Given the description of an element on the screen output the (x, y) to click on. 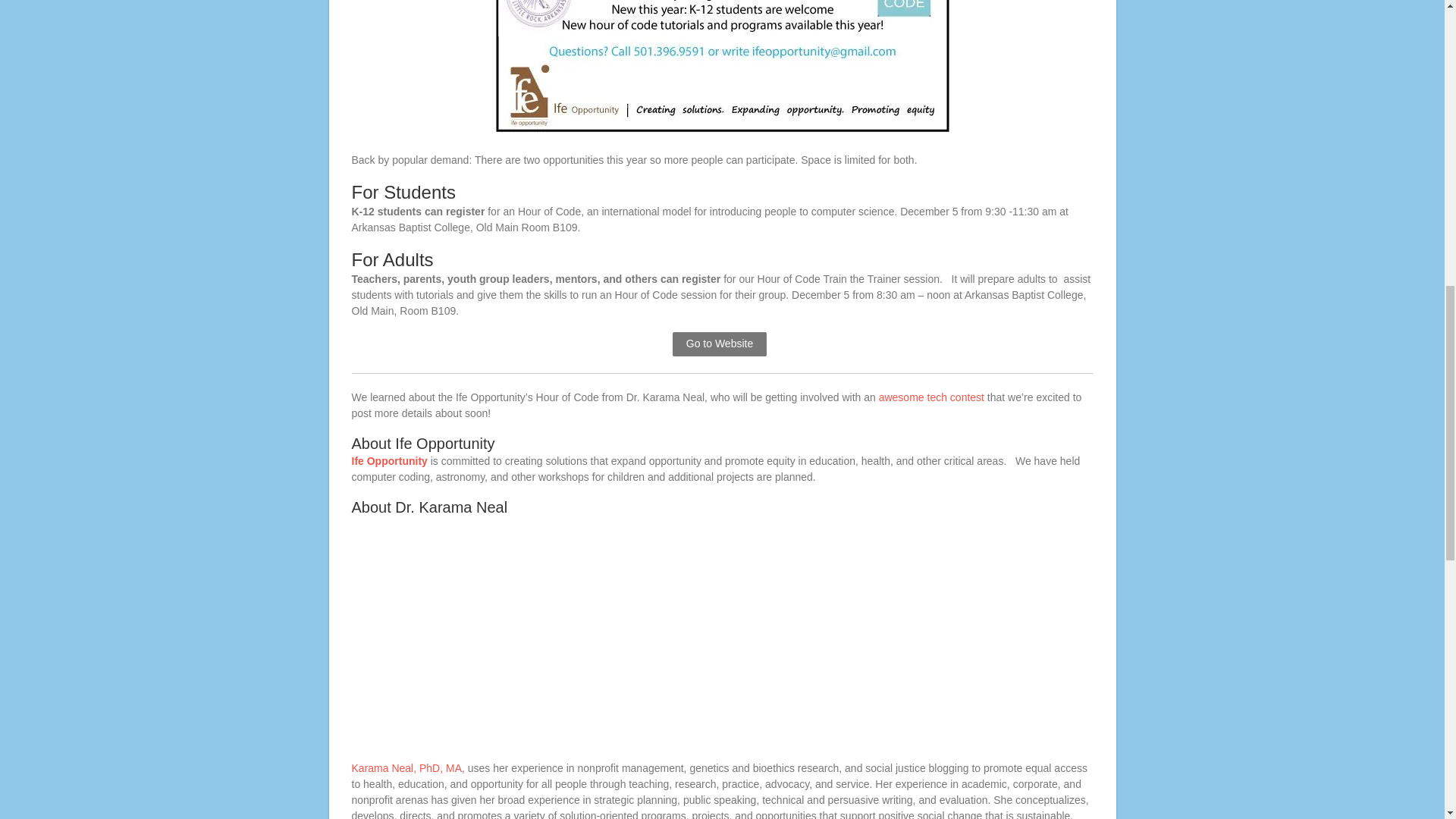
Ife Opportunity (390, 460)
Go to Website (719, 344)
Karama Neal, PhD, MA (407, 767)
awesome tech contest (931, 397)
